Given the description of an element on the screen output the (x, y) to click on. 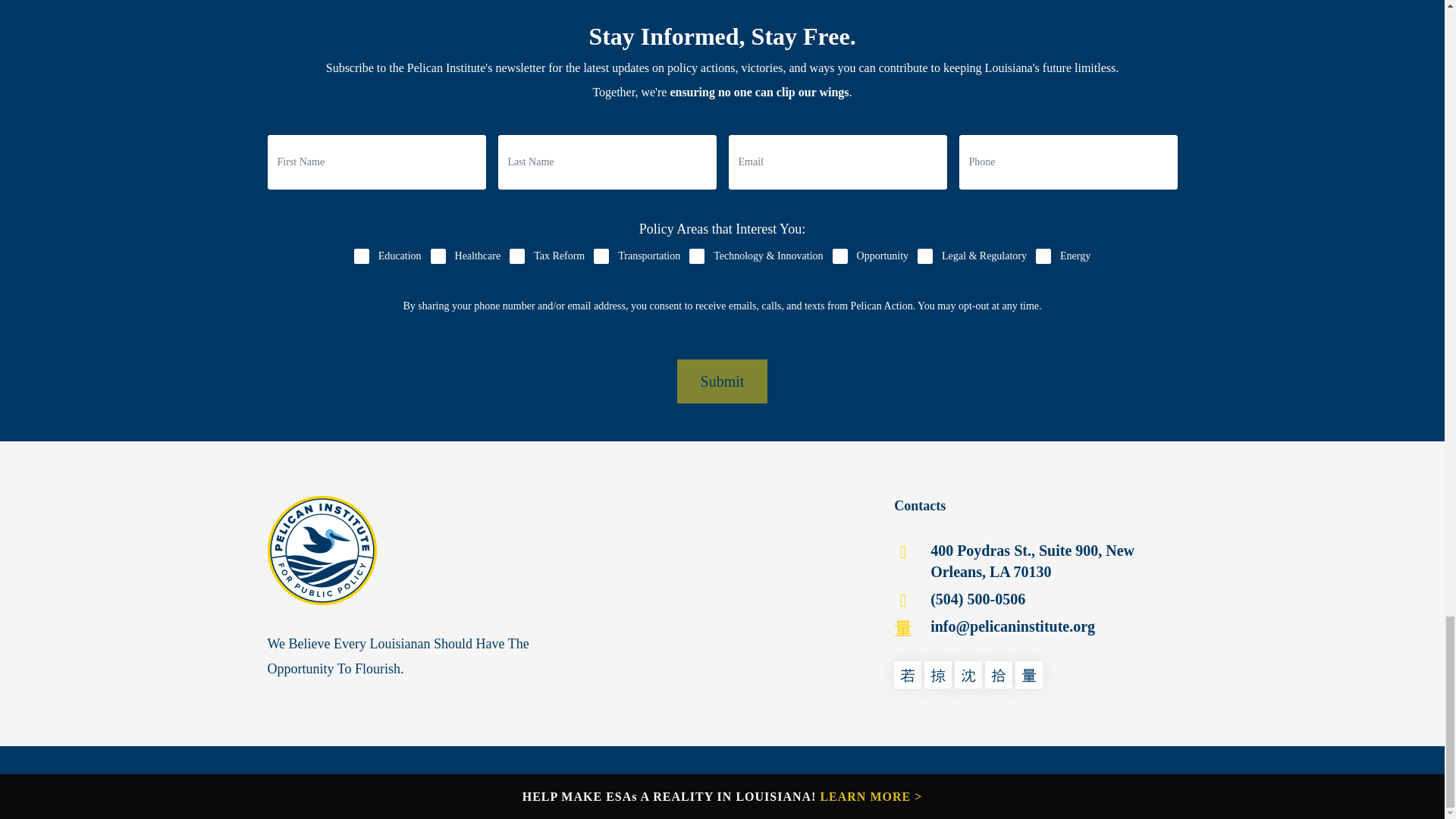
Education (361, 255)
Opportunity (839, 255)
Transportation (601, 255)
Healthcare (437, 255)
Energy (1043, 255)
Tax Reform (516, 255)
Submit (722, 381)
